Given the description of an element on the screen output the (x, y) to click on. 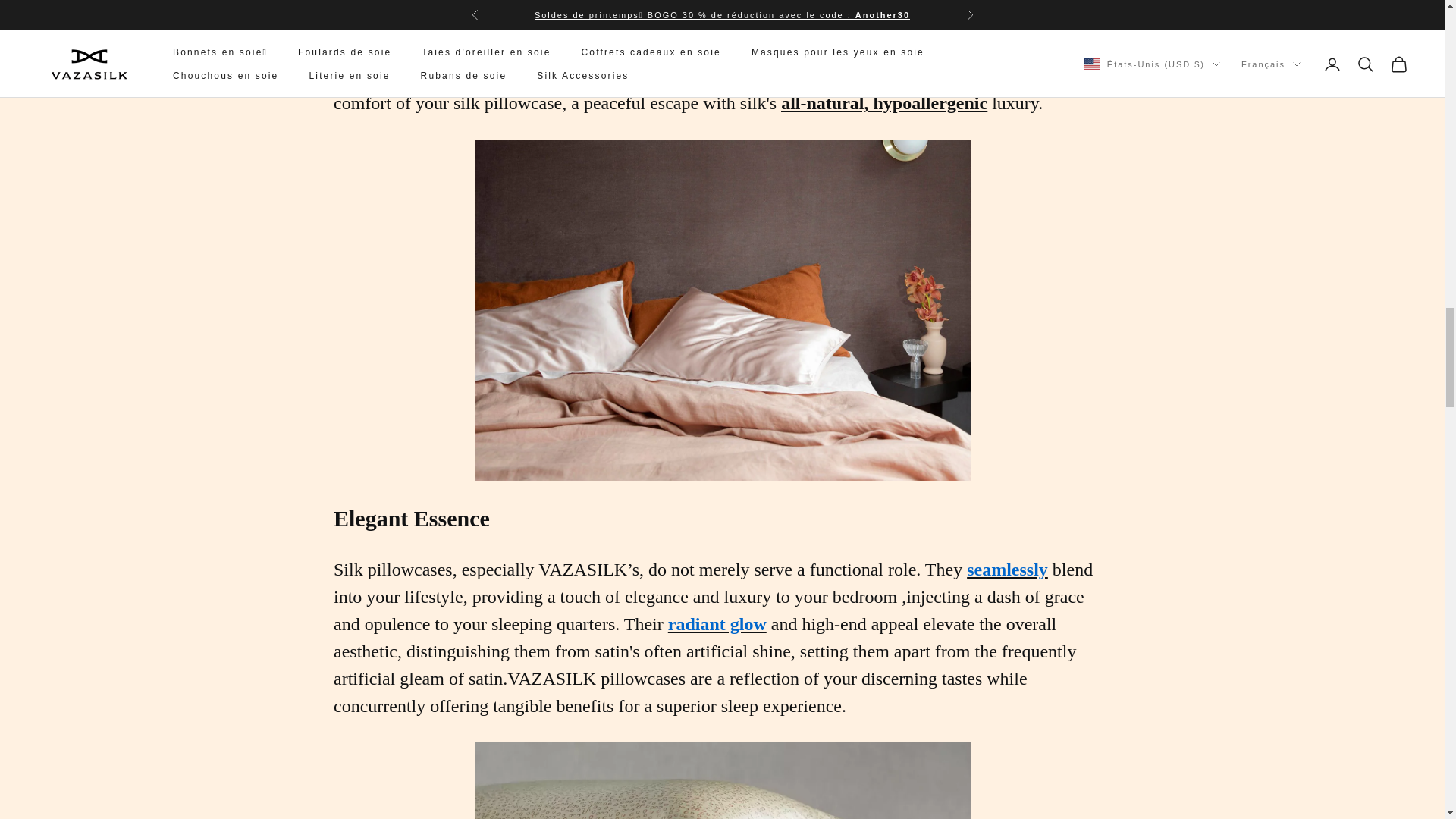
Design (722, 780)
